Given the description of an element on the screen output the (x, y) to click on. 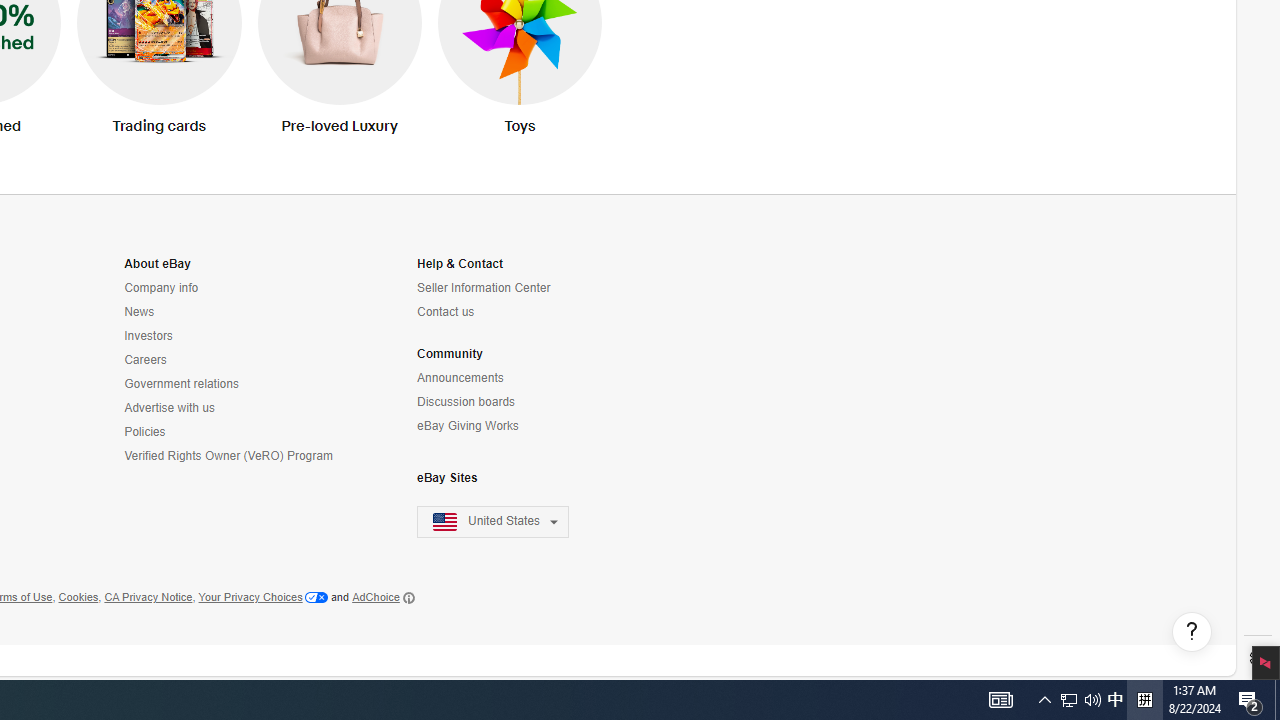
Contact us (505, 312)
Careers (230, 360)
Community (449, 353)
Verified Rights Owner (VeRO) Program (230, 456)
eBay Giving Works (467, 425)
Careers (145, 360)
